Given the description of an element on the screen output the (x, y) to click on. 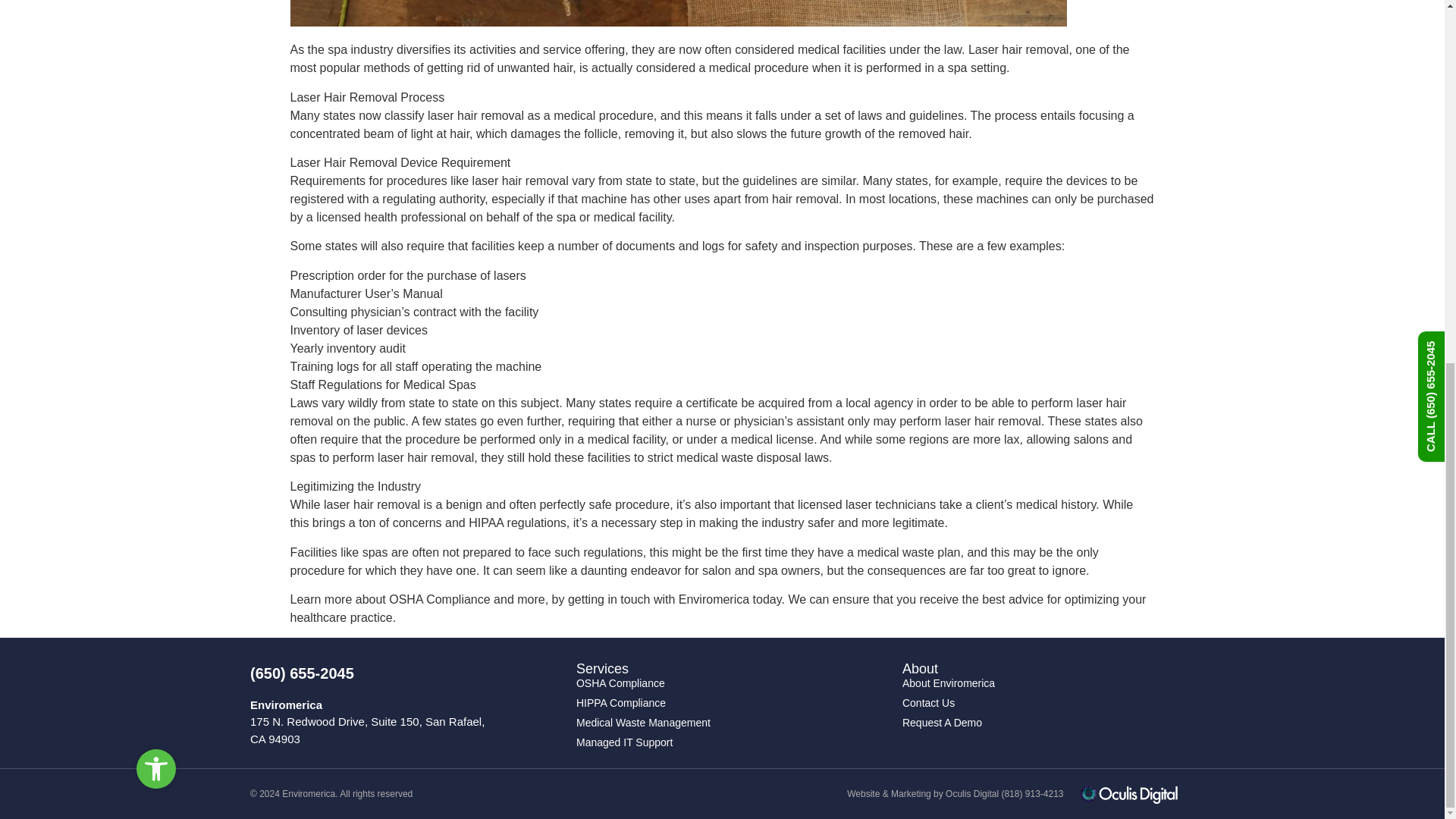
Accessibility Tools (156, 120)
Accessibility Tools (156, 120)
